Given the description of an element on the screen output the (x, y) to click on. 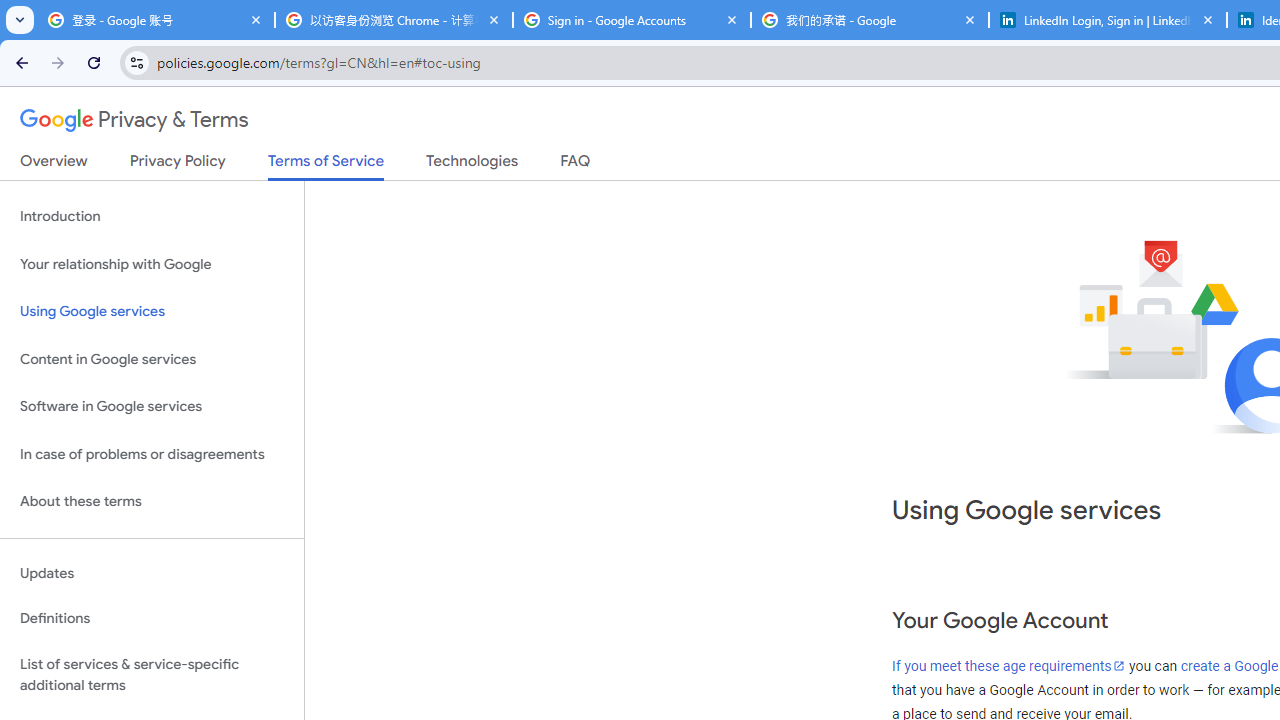
Introduction (152, 216)
Technologies (472, 165)
Using Google services (152, 312)
Your relationship with Google (152, 263)
Software in Google services (152, 407)
